Given the description of an element on the screen output the (x, y) to click on. 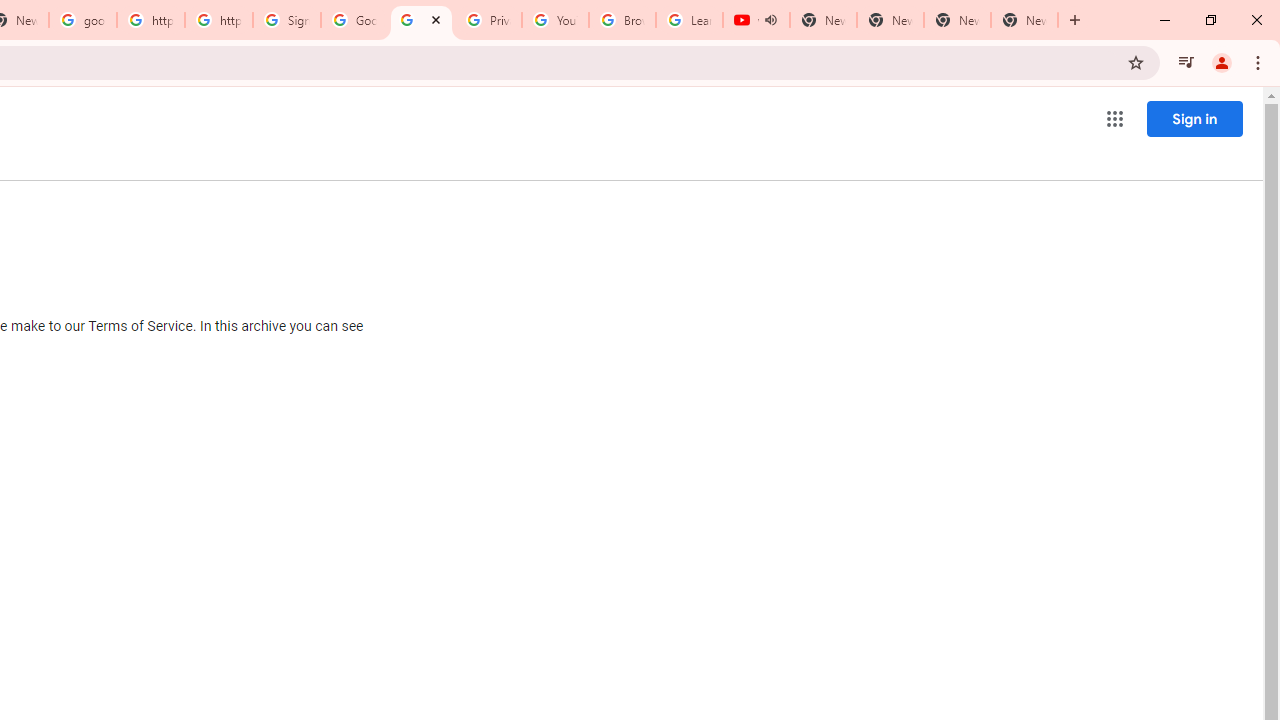
New Tab (1024, 20)
Sign in - Google Accounts (287, 20)
https://scholar.google.com/ (219, 20)
